Given the description of an element on the screen output the (x, y) to click on. 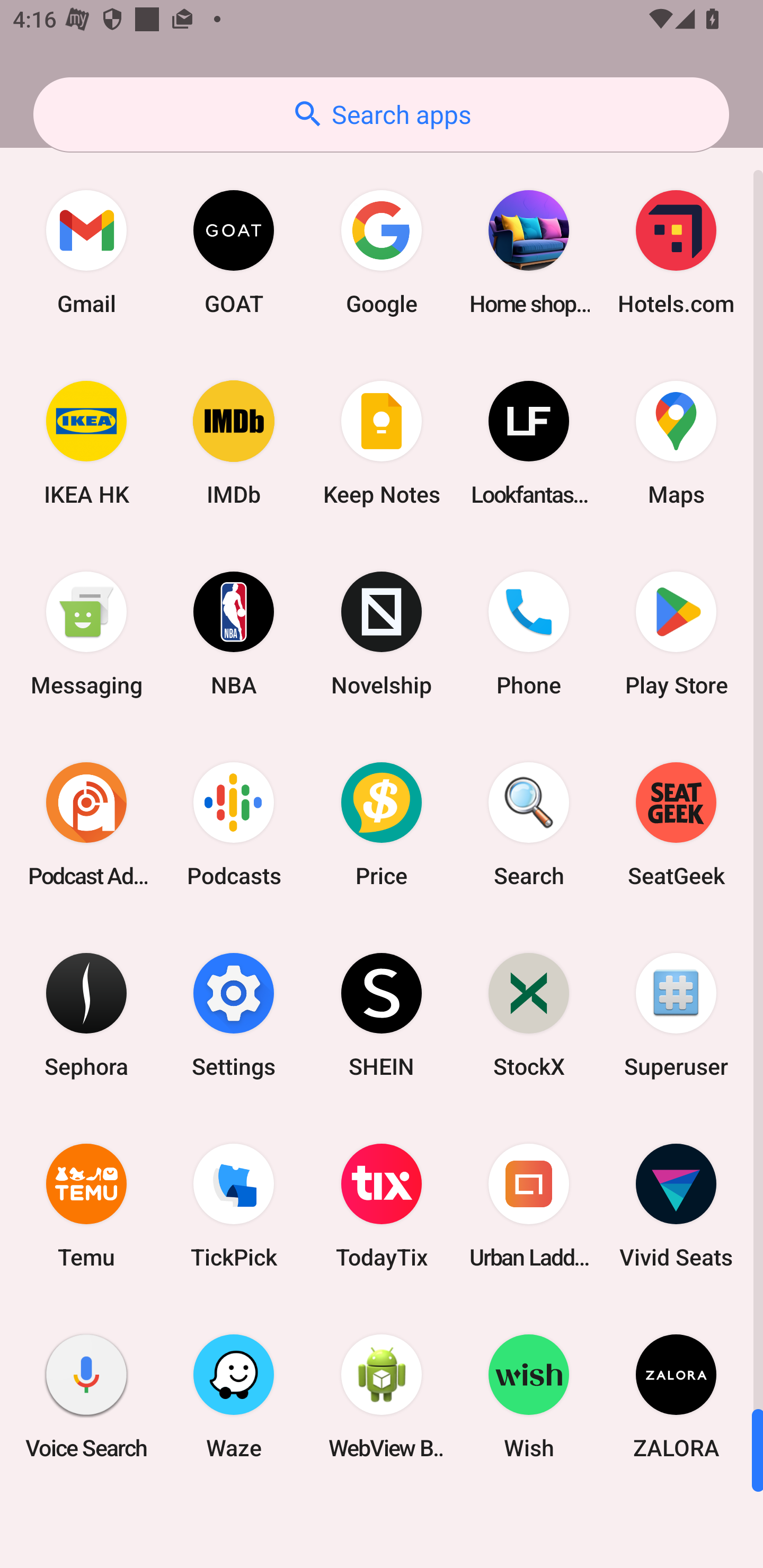
  Search apps (381, 114)
Gmail (86, 252)
GOAT (233, 252)
Google (381, 252)
Home shopping (528, 252)
Hotels.com (676, 252)
IKEA HK (86, 442)
IMDb (233, 442)
Keep Notes (381, 442)
Lookfantastic (528, 442)
Maps (676, 442)
Messaging (86, 633)
NBA (233, 633)
Novelship (381, 633)
Phone (528, 633)
Play Store (676, 633)
Podcast Addict (86, 823)
Podcasts (233, 823)
Price (381, 823)
Search (528, 823)
SeatGeek (676, 823)
Sephora (86, 1014)
Settings (233, 1014)
SHEIN (381, 1014)
StockX (528, 1014)
Superuser (676, 1014)
Temu (86, 1205)
TickPick (233, 1205)
TodayTix (381, 1205)
Urban Ladder (528, 1205)
Vivid Seats (676, 1205)
Voice Search (86, 1396)
Waze (233, 1396)
WebView Browser Tester (381, 1396)
Wish (528, 1396)
ZALORA (676, 1396)
